Given the description of an element on the screen output the (x, y) to click on. 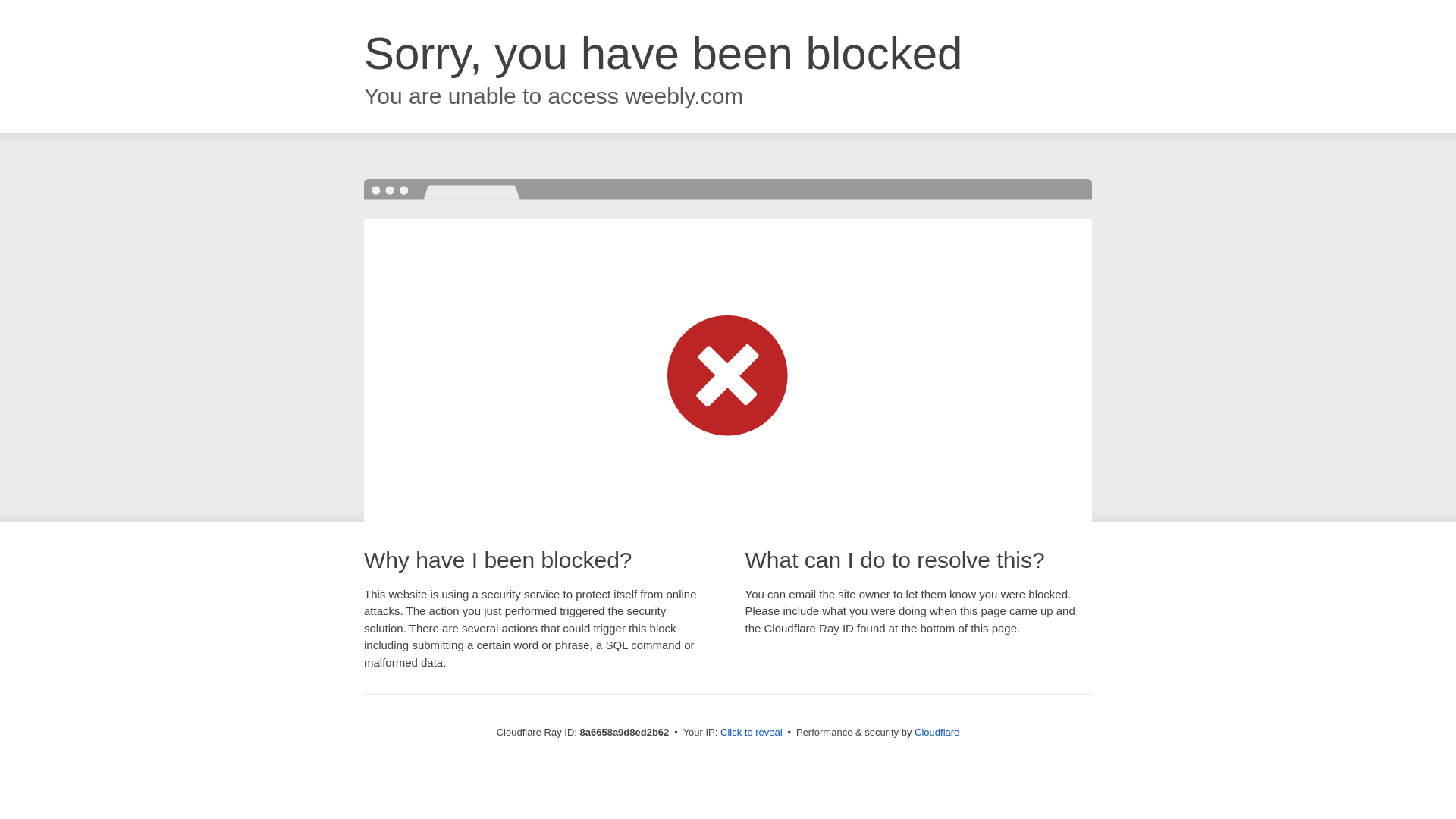
Click to reveal (751, 732)
Cloudflare (936, 731)
